Given the description of an element on the screen output the (x, y) to click on. 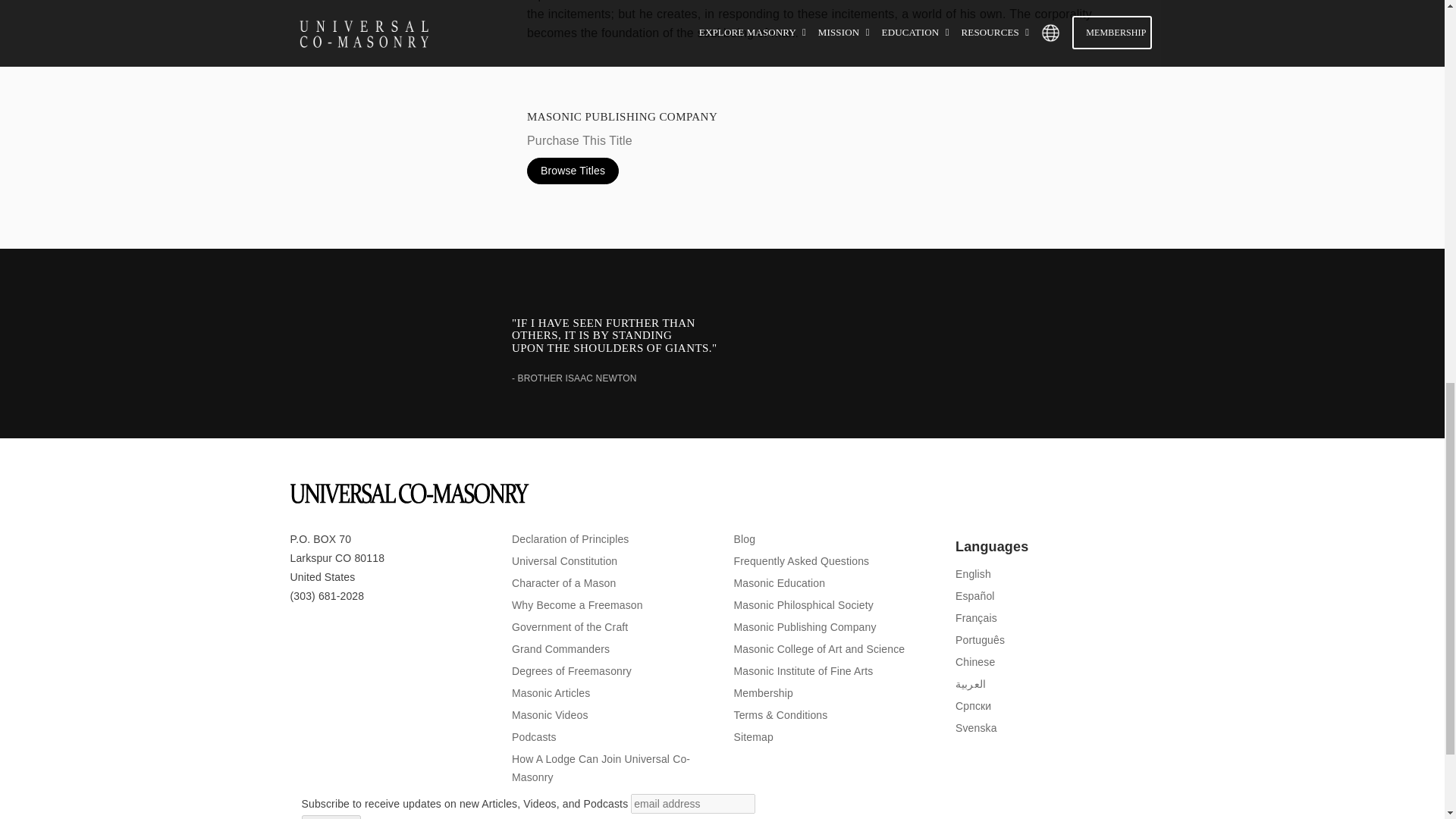
Subscribe (331, 816)
